Given the description of an element on the screen output the (x, y) to click on. 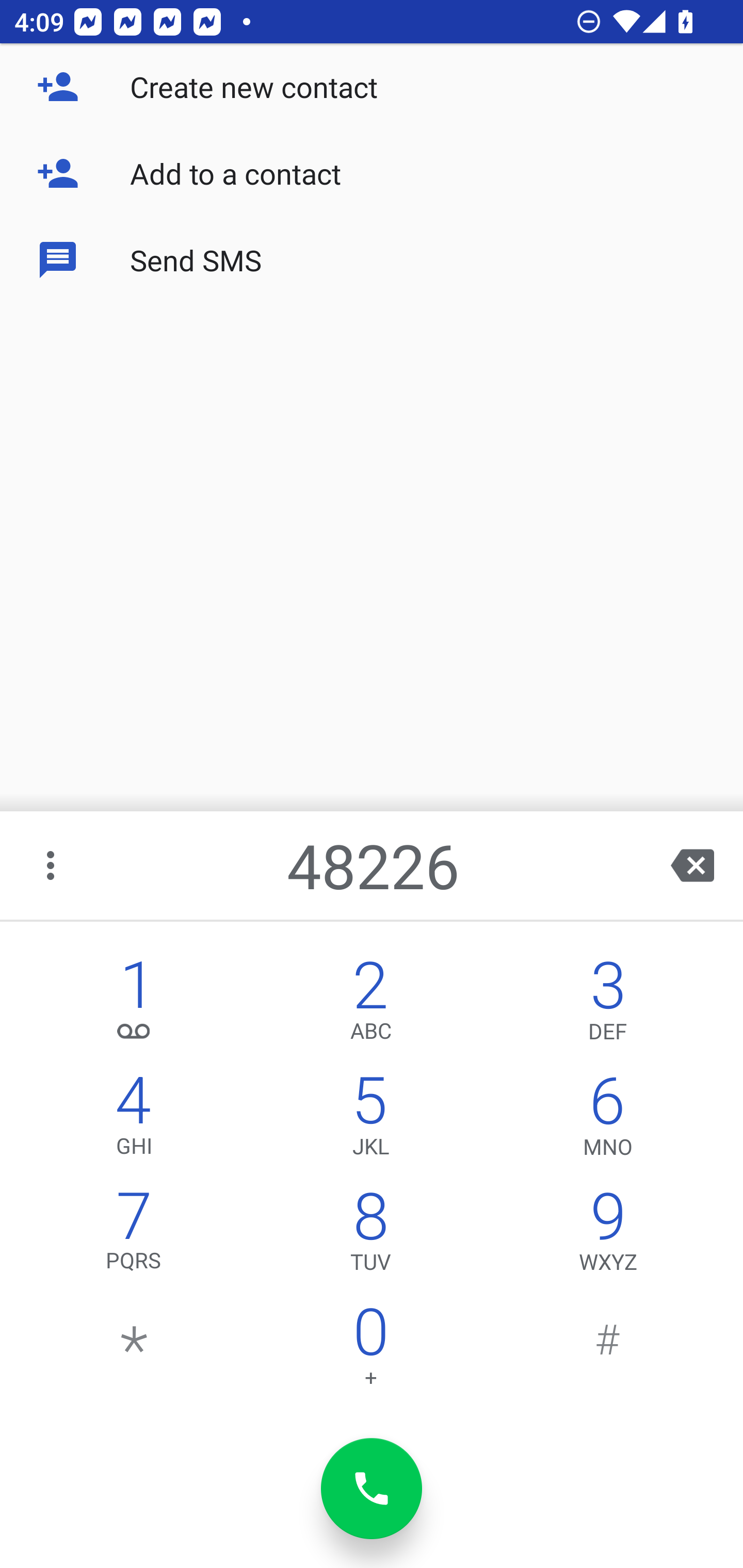
Create new contact (371, 86)
Add to a contact (371, 173)
Send SMS (371, 259)
48226 (372, 865)
backspace (692, 865)
More options (52, 865)
1, 1 (133, 1005)
2,ABC 2 ABC (370, 1005)
3,DEF 3 DEF (607, 1005)
4,GHI 4 GHI (133, 1120)
5,JKL 5 JKL (370, 1120)
6,MNO 6 MNO (607, 1120)
7,PQRS 7 PQRS (133, 1235)
8,TUV 8 TUV (370, 1235)
9,WXYZ 9 WXYZ (607, 1235)
* (133, 1351)
0 0 + (370, 1351)
# (607, 1351)
dial (371, 1488)
